Given the description of an element on the screen output the (x, y) to click on. 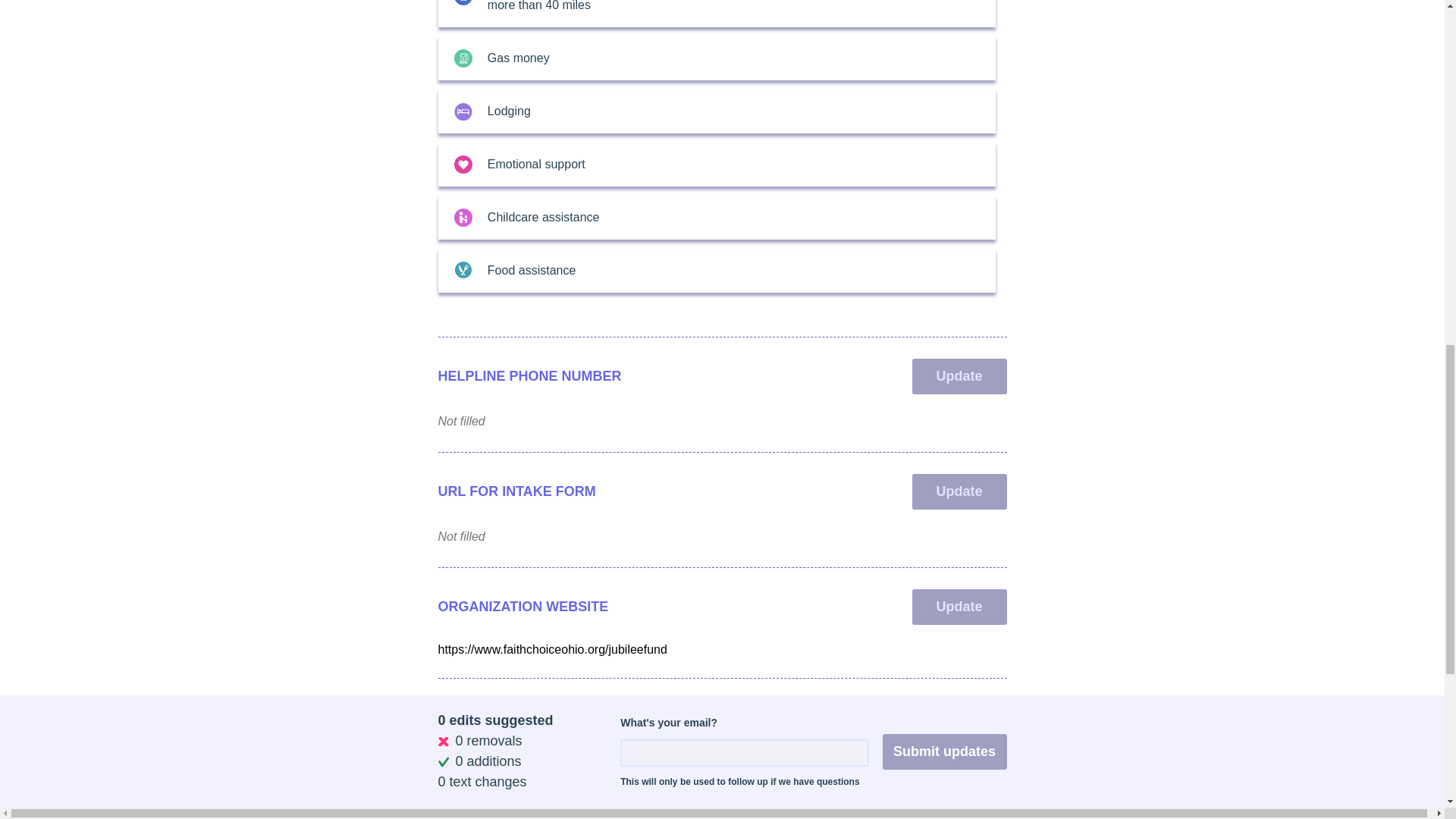
Update (958, 717)
Update (958, 491)
Update (958, 375)
Update (958, 606)
